Given the description of an element on the screen output the (x, y) to click on. 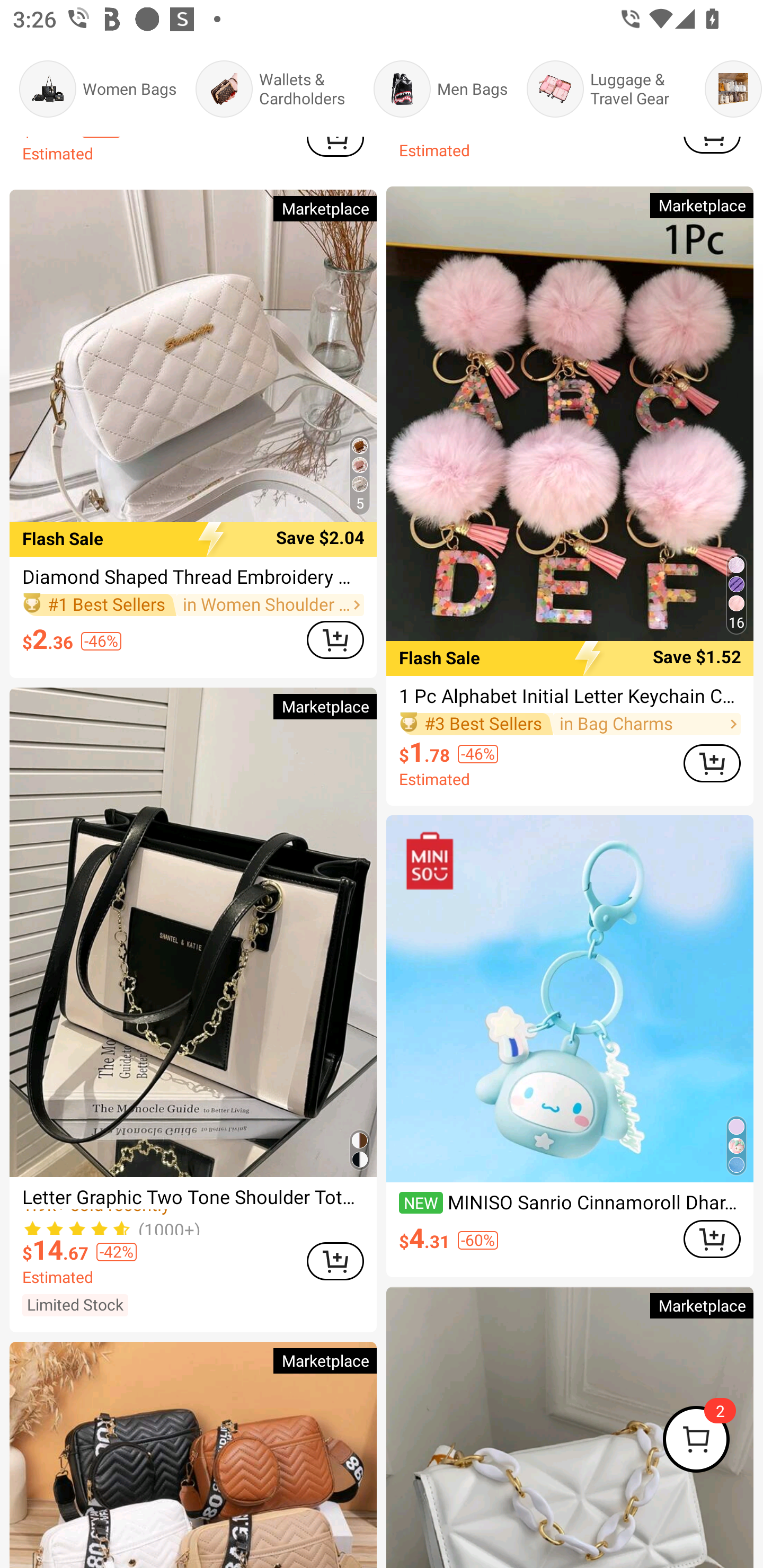
Women Bags (97, 89)
Wallets & Cardholders (274, 89)
Men Bags (440, 89)
Luggage & Travel Gear (605, 89)
#1 Best Sellers in Women Shoulder Bags (192, 604)
ADD TO CART (334, 639)
#3 Best Sellers in Bag Charms (569, 723)
ADD TO CART (711, 763)
ADD TO CART (711, 1238)
ADD TO CART (334, 1261)
